Given the description of an element on the screen output the (x, y) to click on. 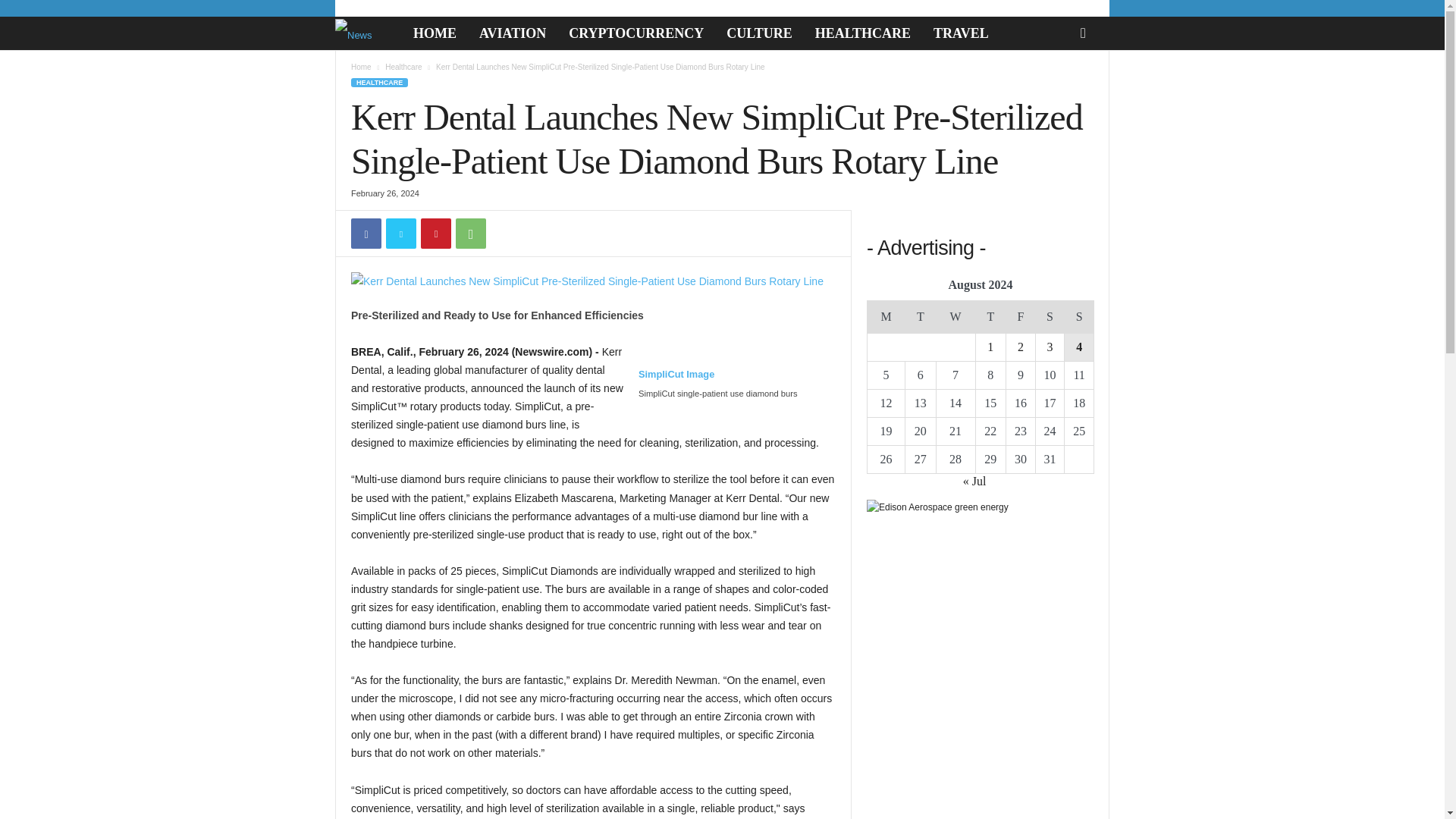
TRAVEL (960, 32)
Home (360, 67)
HEALTHCARE (378, 81)
CULTURE (758, 32)
HOME (434, 32)
CRYPTOCURRENCY (635, 32)
Facebook (365, 233)
Healthcare (403, 67)
HEALTHCARE (862, 32)
Pinterest (435, 233)
News Choice (359, 32)
News Choice (367, 33)
WhatsApp (470, 233)
SimpliCut Image (676, 382)
